Given the description of an element on the screen output the (x, y) to click on. 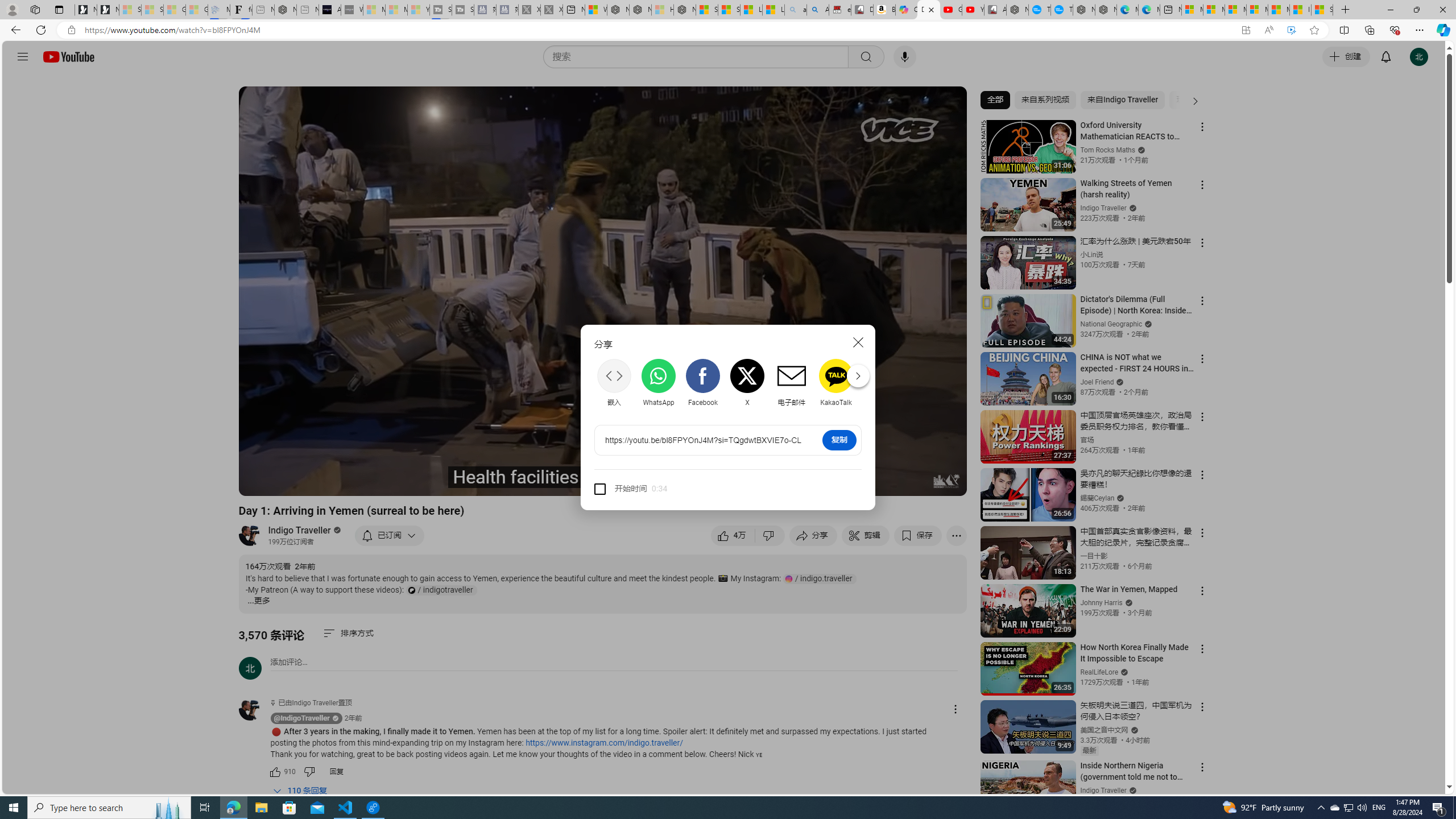
Facebook (702, 382)
Day 1: Arriving in Yemen (surreal to be here) - YouTube (928, 9)
Gloom - YouTube (950, 9)
